Given the description of an element on the screen output the (x, y) to click on. 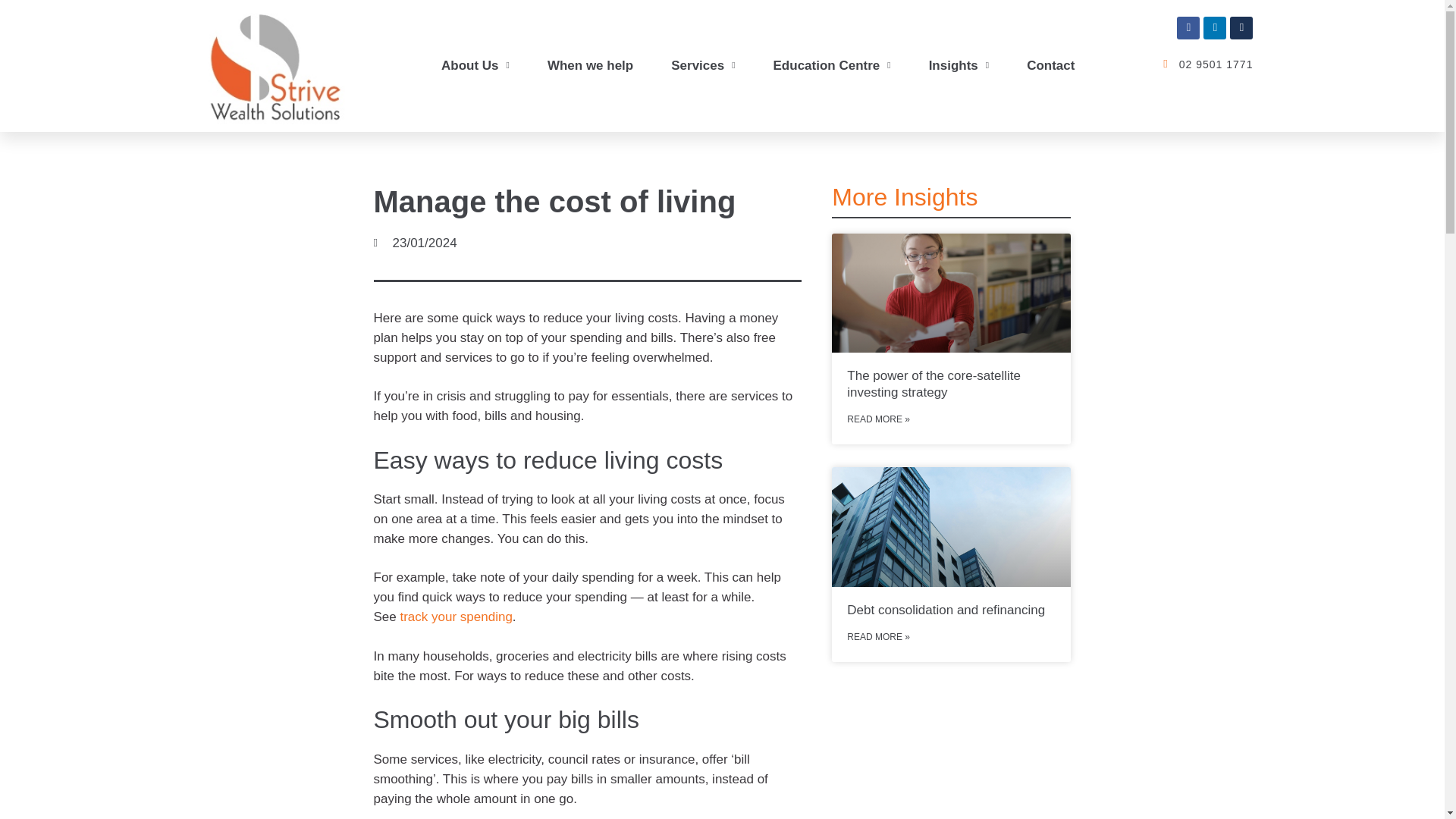
When we help (590, 65)
Services (702, 65)
Education Centre (832, 65)
The power of the core-satellite investing strategy (949, 291)
Insights (958, 65)
About Us (475, 65)
Debt consolidation and refinancing (949, 525)
